Given the description of an element on the screen output the (x, y) to click on. 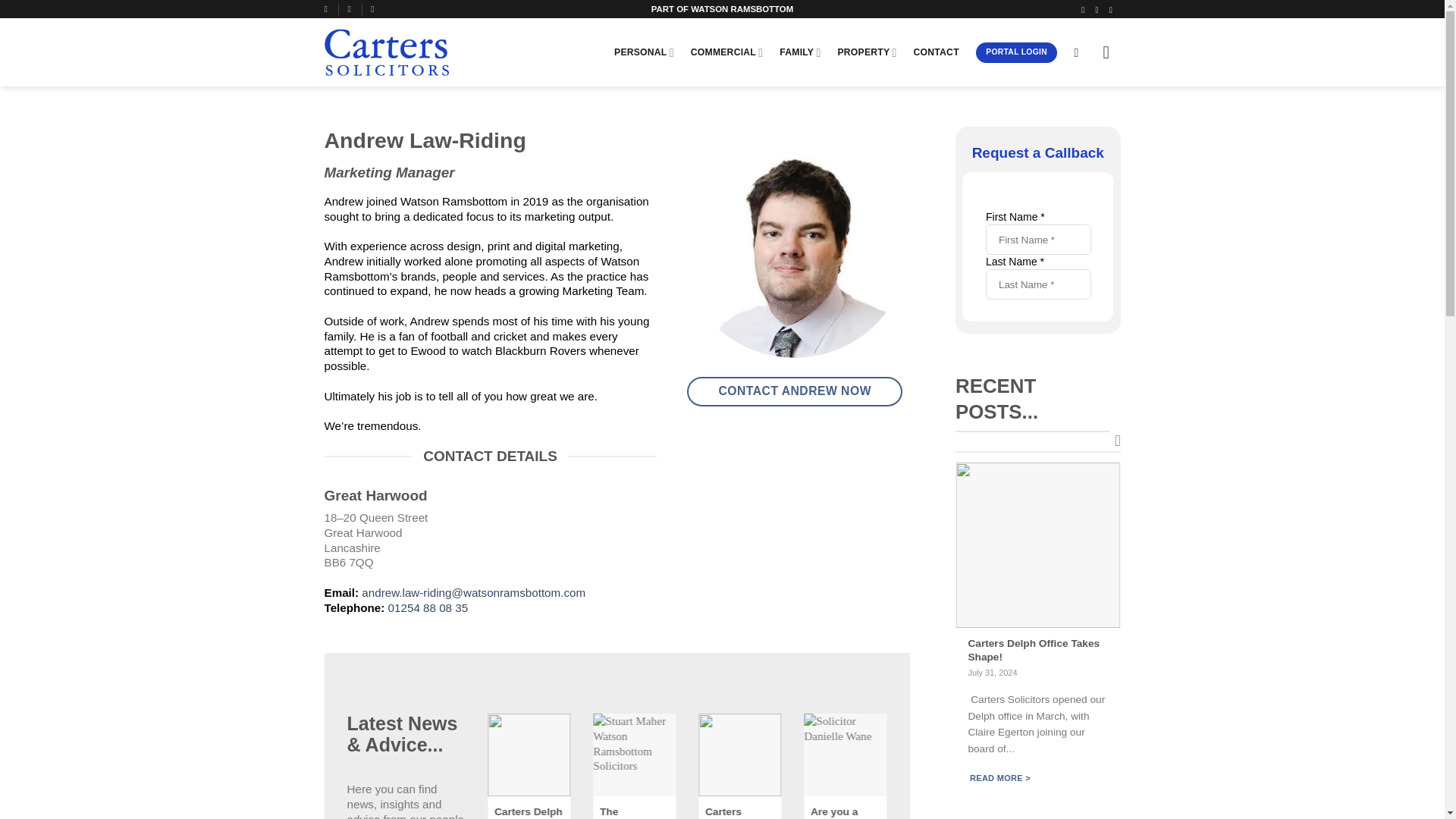
COMMERCIAL (726, 51)
Follow on Twitter (1098, 8)
Follow on LinkedIn (1113, 8)
Carters Solicitors (453, 52)
Follow on Facebook (1085, 8)
PERSONAL (644, 51)
